Given the description of an element on the screen output the (x, y) to click on. 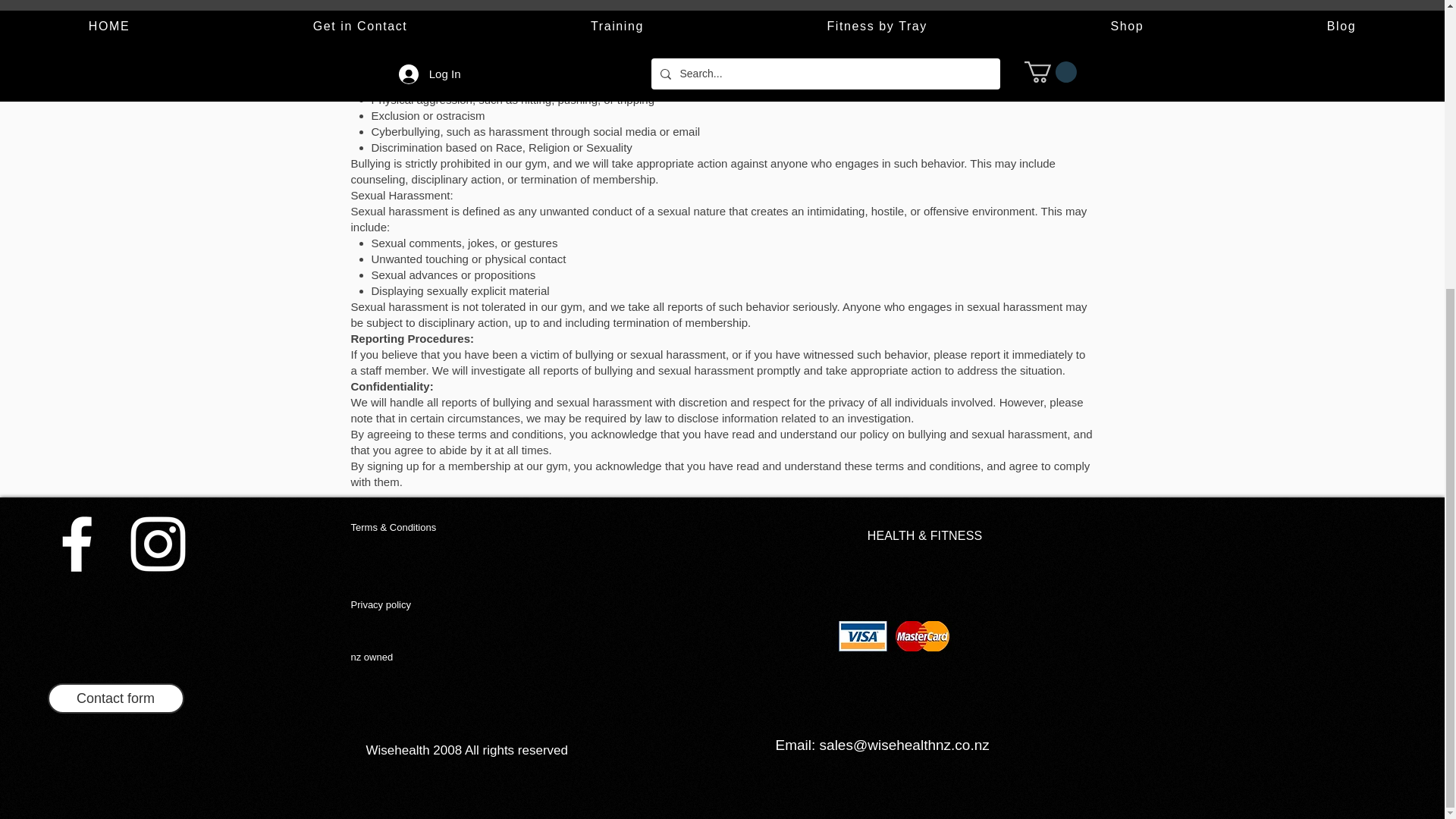
Contact form (114, 698)
Privacy policy (380, 604)
